Given the description of an element on the screen output the (x, y) to click on. 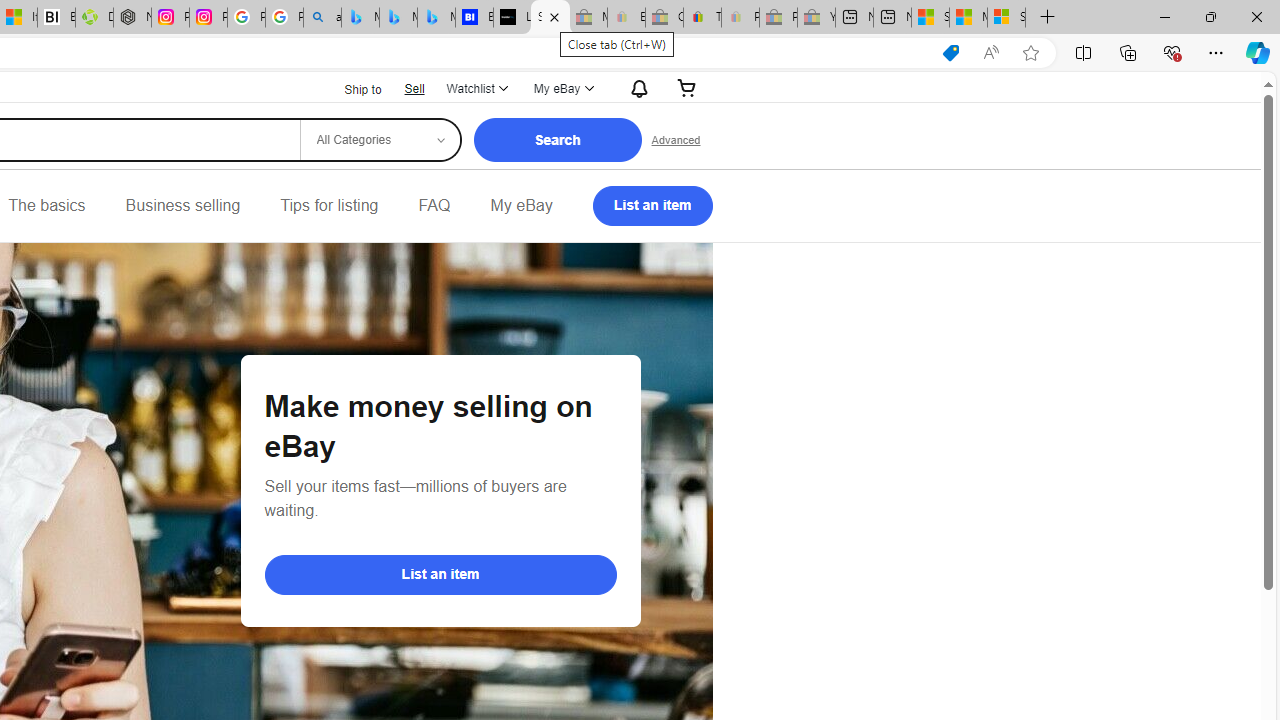
Tips for listing (329, 205)
FAQ (434, 205)
My eBay (521, 205)
Watchlist (476, 88)
Business selling (182, 205)
The basics (46, 205)
